Given the description of an element on the screen output the (x, y) to click on. 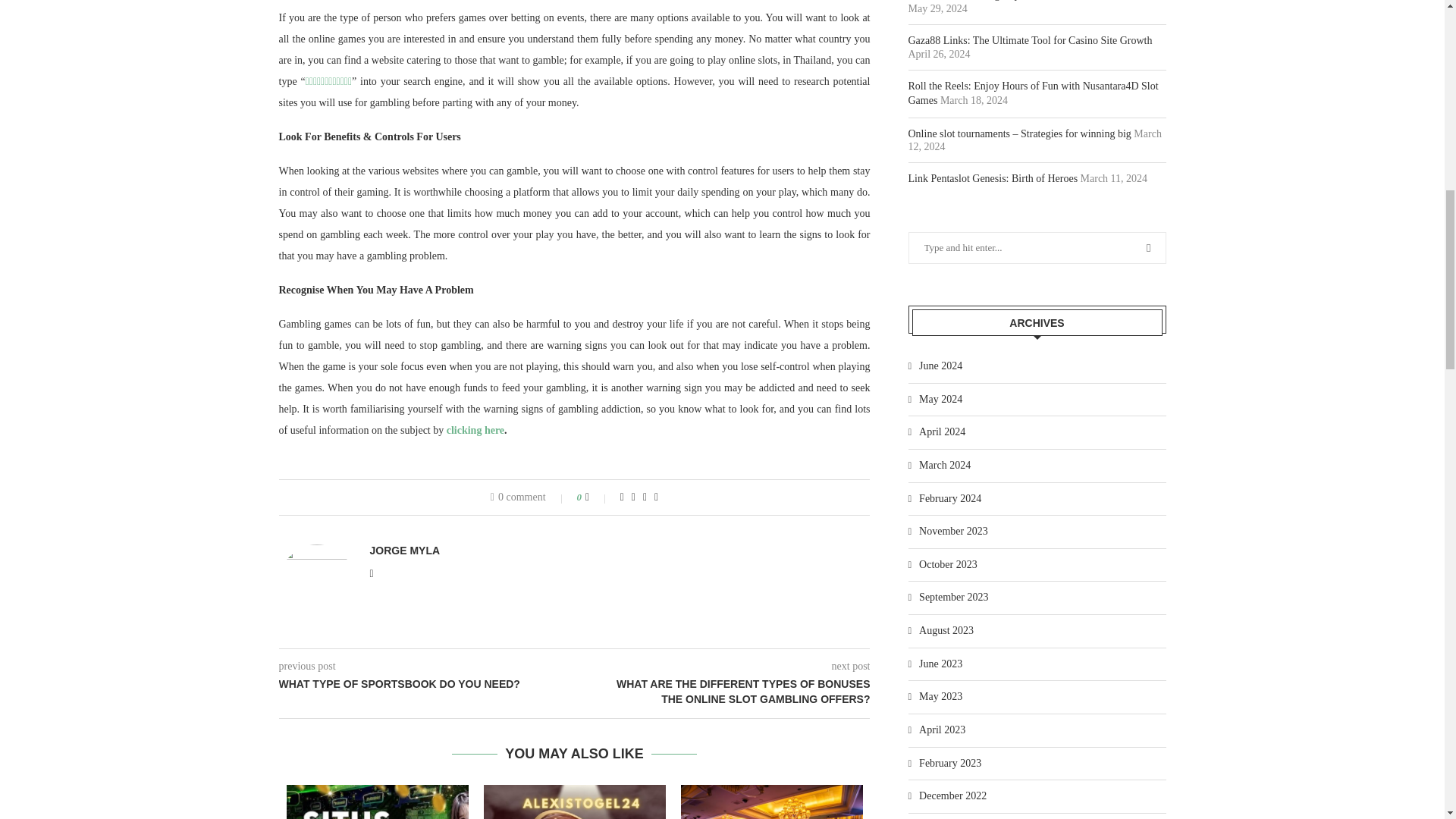
Advanced Techniques for Link Slot Gacor (377, 801)
Author Jorge Myla (405, 550)
Elevate Your Gaming Experience with Bandar Judi Online (772, 801)
Like (597, 497)
